Given the description of an element on the screen output the (x, y) to click on. 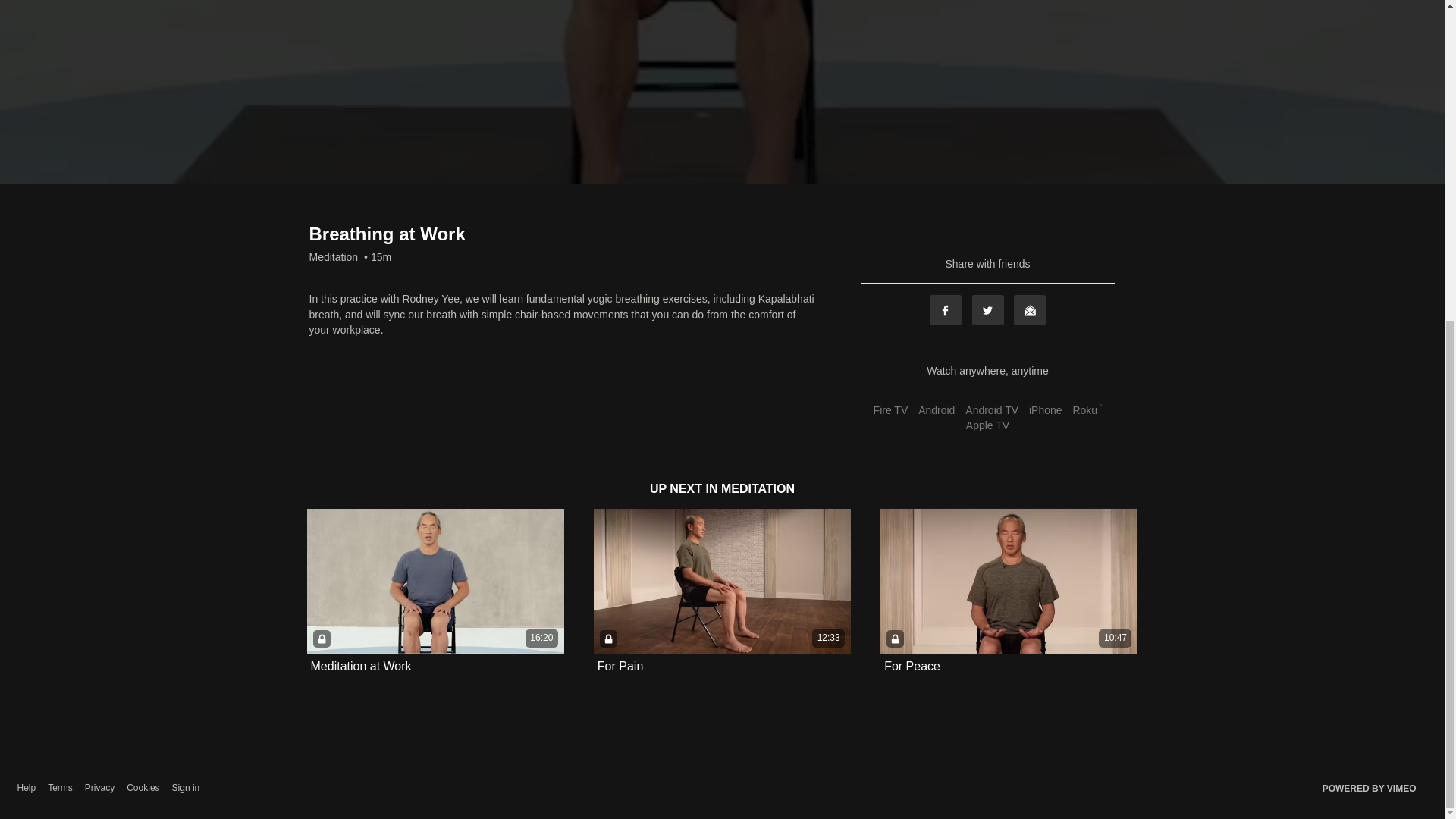
Meditation at Work (361, 666)
Email (1029, 309)
Apple TV (987, 425)
MEDITATION (757, 488)
Terms (60, 788)
iPhone (1045, 410)
For Peace (911, 666)
Android (936, 410)
For Pain (619, 666)
12:33 (722, 580)
Fire TV (890, 410)
Android TV (991, 410)
Cookies (142, 788)
Twitter (988, 309)
Facebook (945, 309)
